Given the description of an element on the screen output the (x, y) to click on. 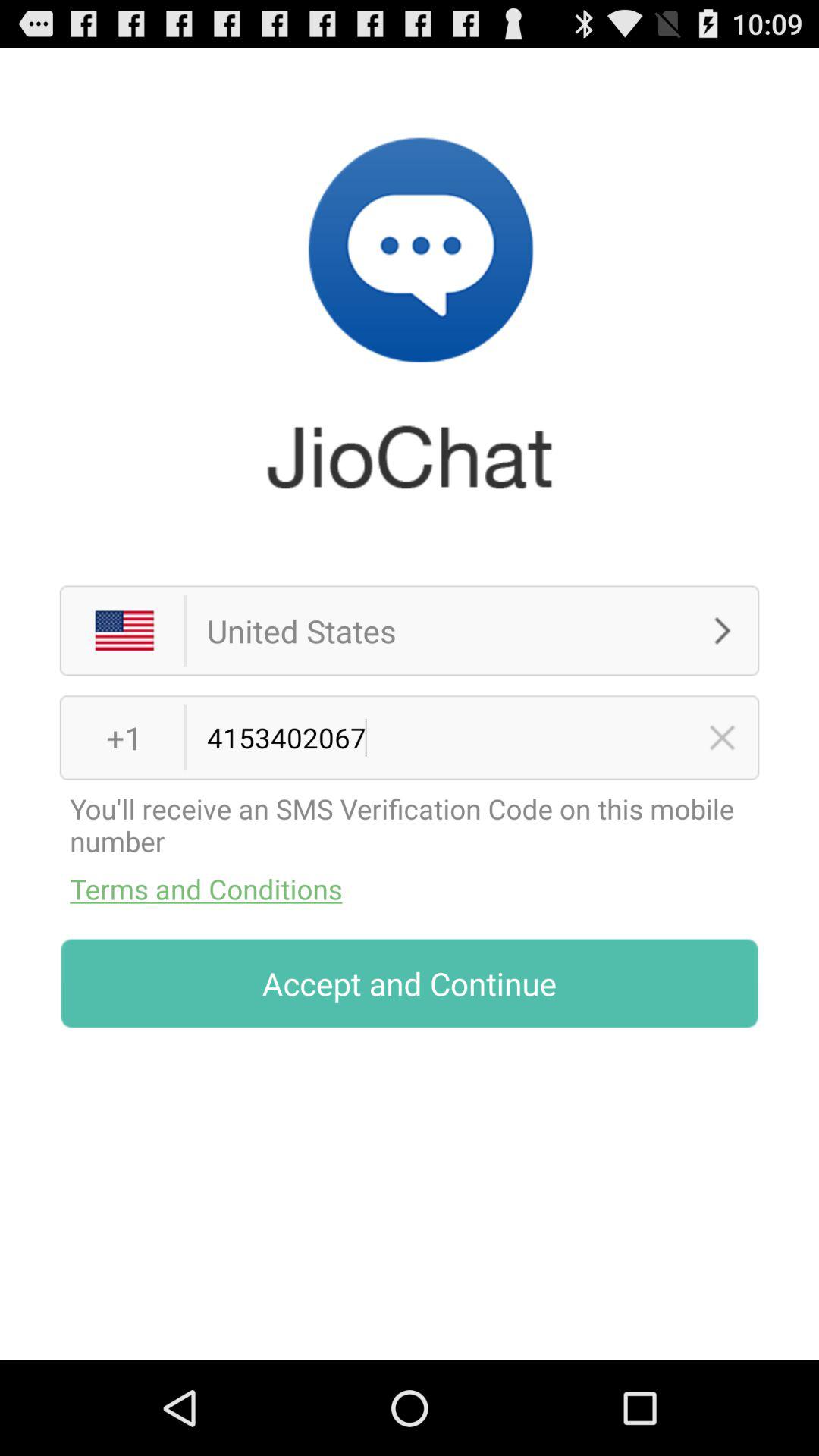
cancel option (722, 737)
